Given the description of an element on the screen output the (x, y) to click on. 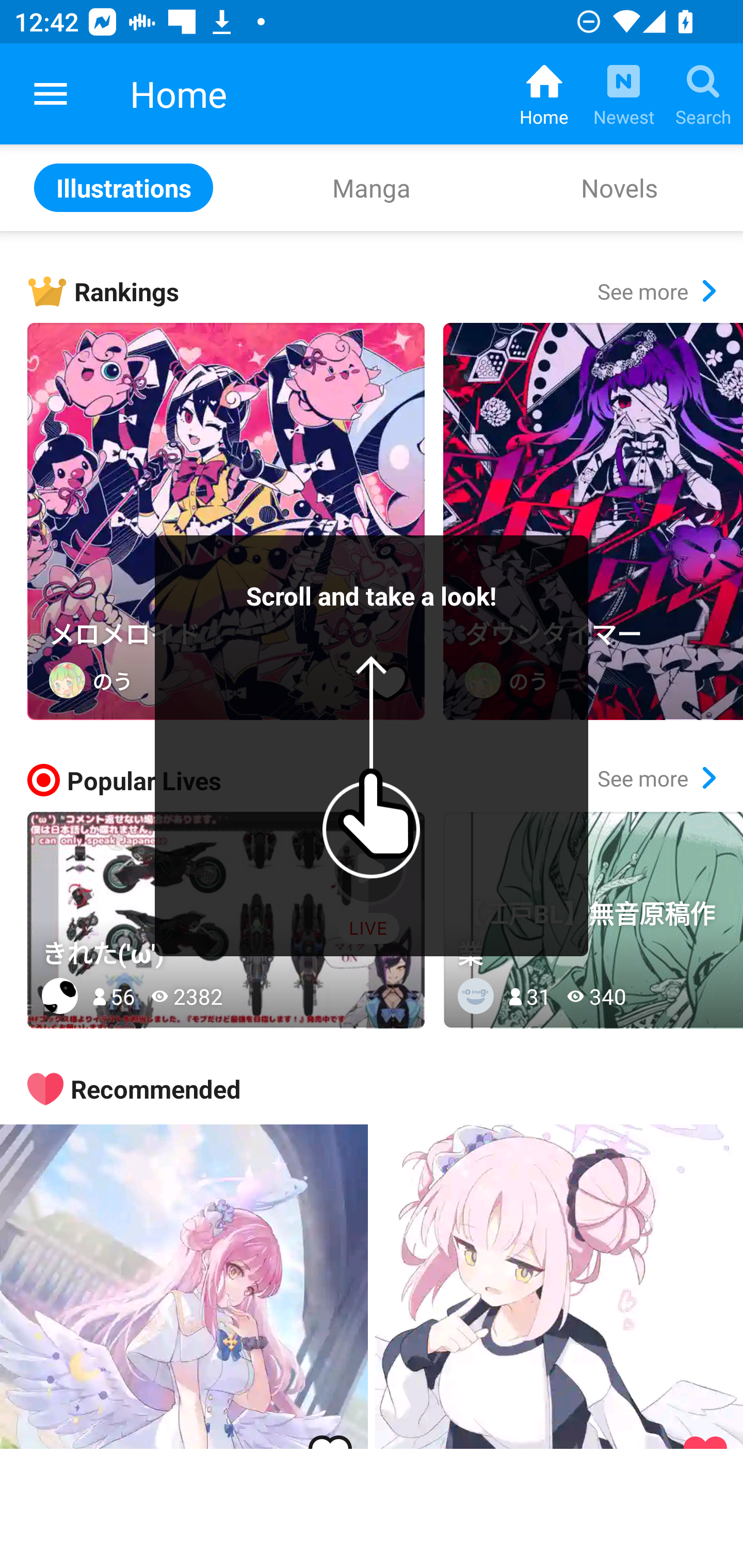
pixiv (50, 93)
Newest (623, 93)
Search (703, 93)
Illustrations (123, 187)
Manga (371, 187)
Novels (619, 187)
Rankings See more (385, 291)
See more (656, 778)
